Given the description of an element on the screen output the (x, y) to click on. 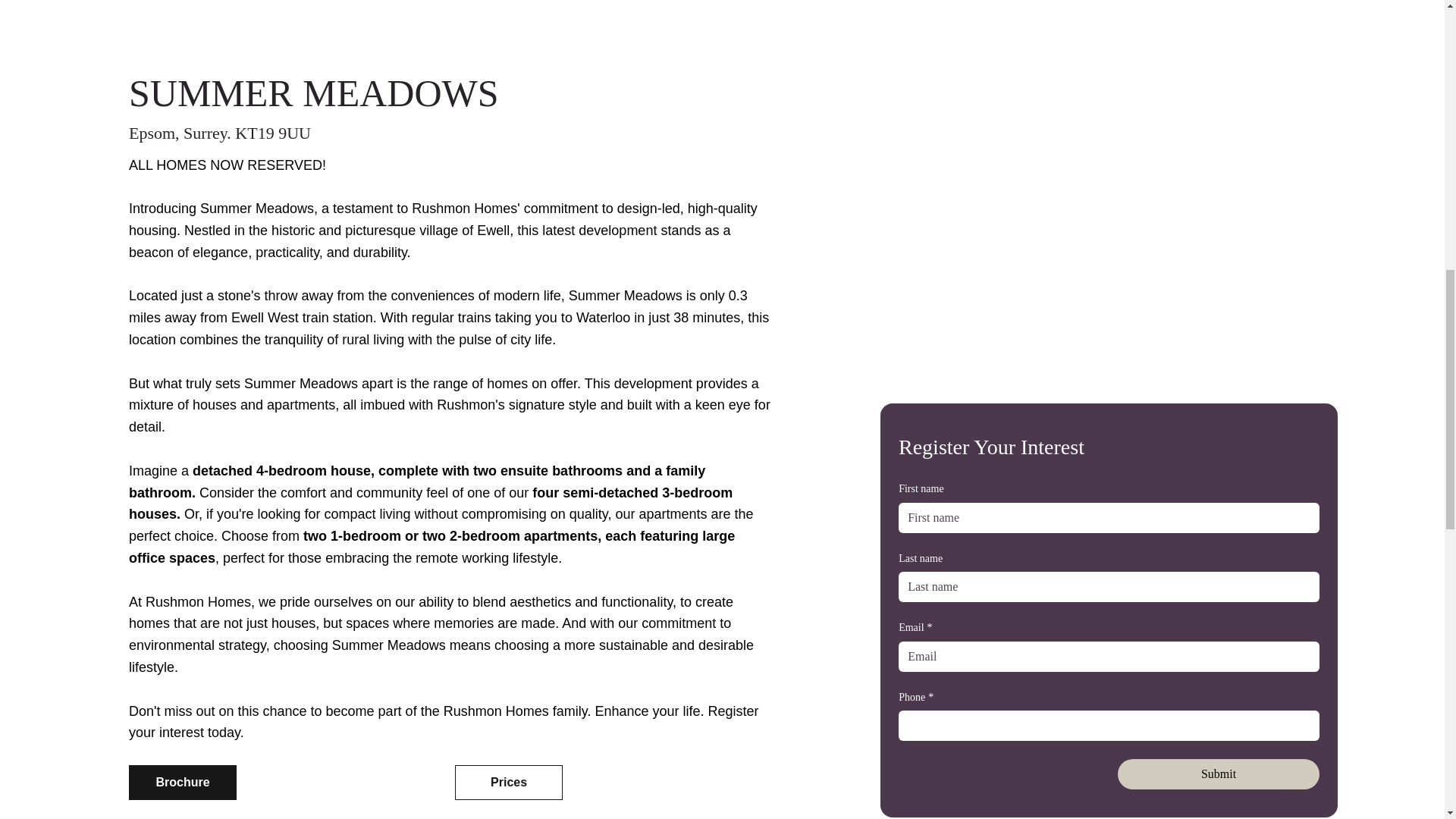
Brochure (182, 782)
Submit (1218, 774)
Prices (508, 782)
